Given the description of an element on the screen output the (x, y) to click on. 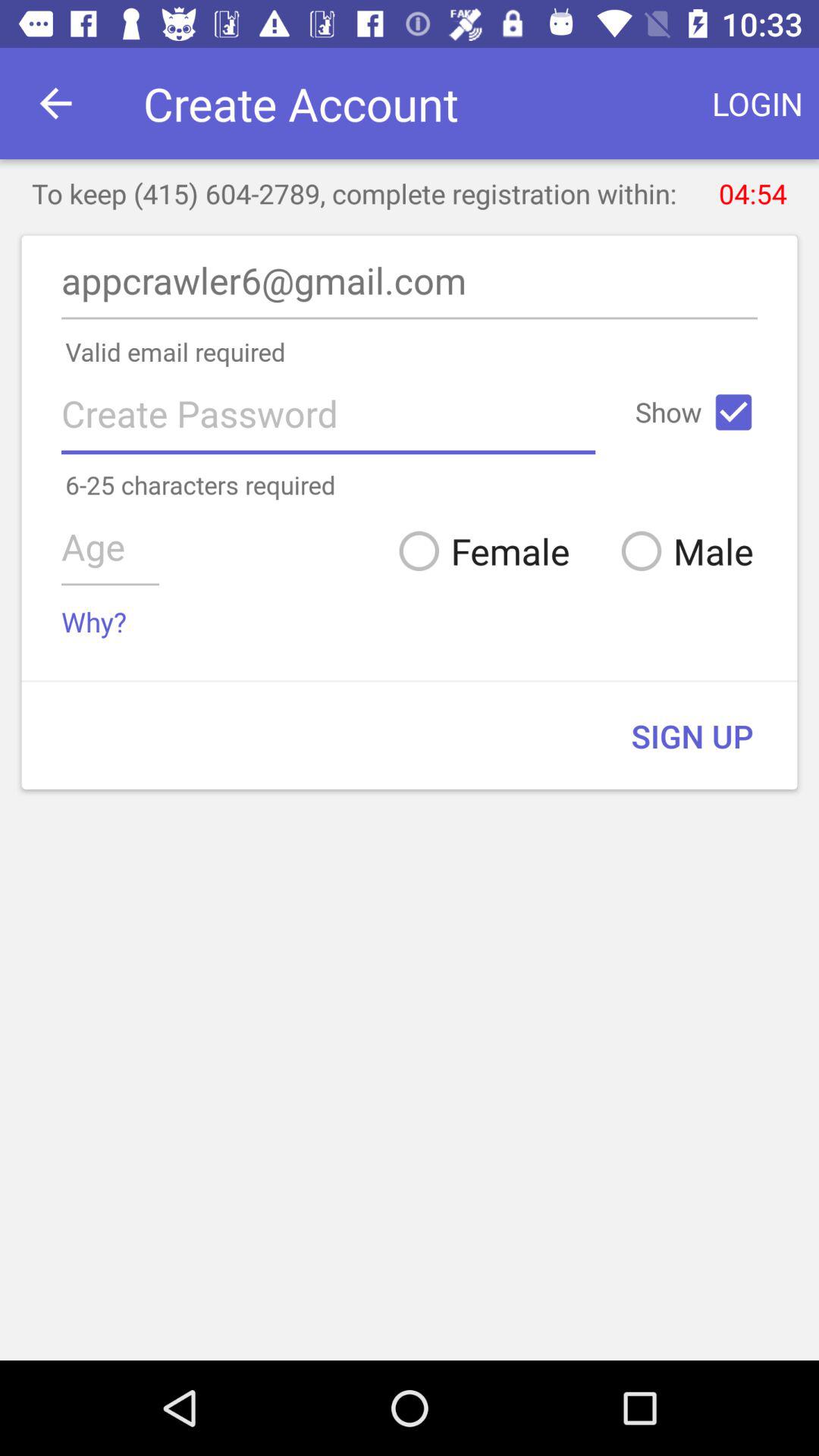
press item below the to keep 415 item (409, 284)
